Given the description of an element on the screen output the (x, y) to click on. 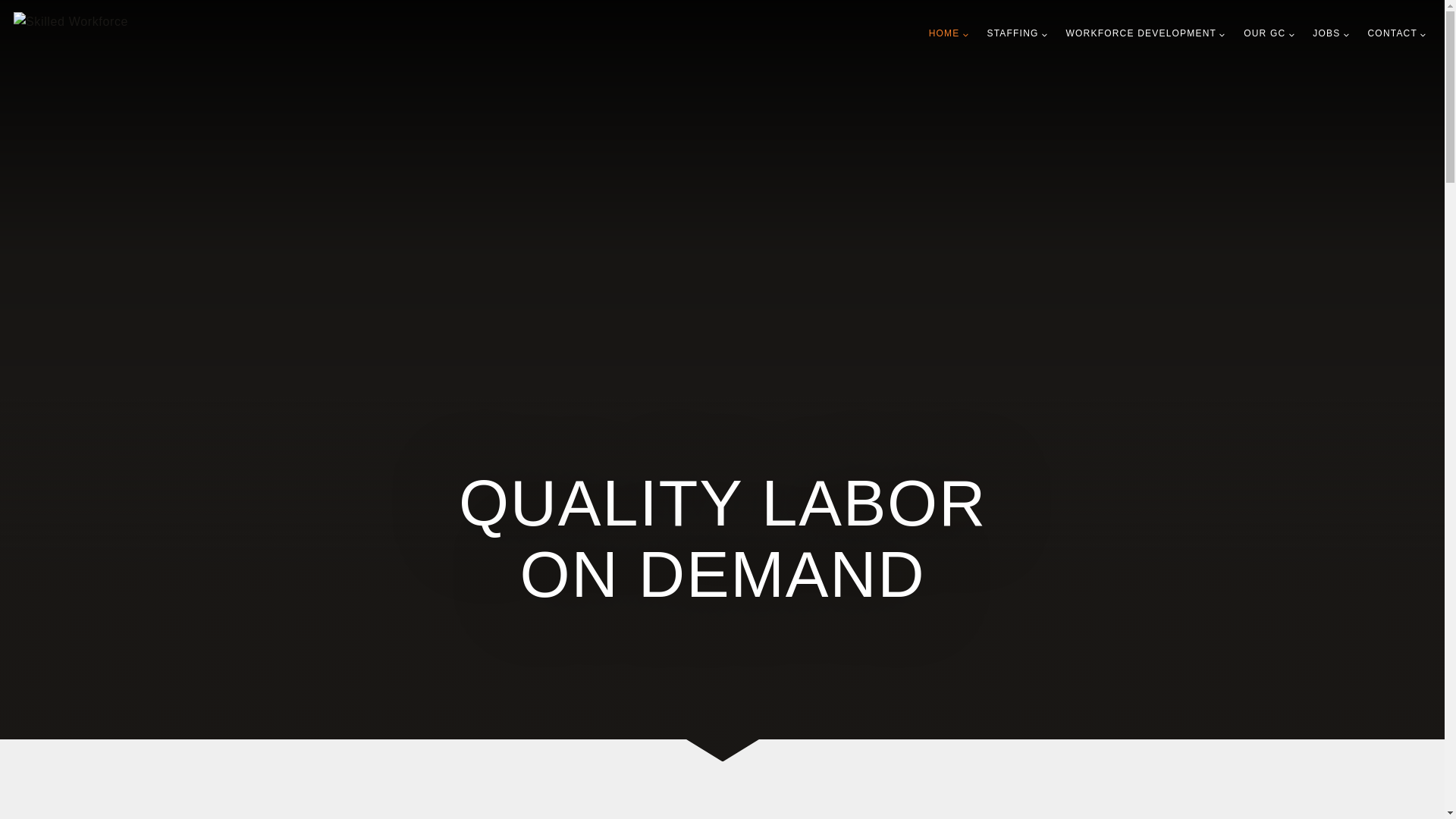
WORKFORCE DEVELOPMENT (1145, 33)
STAFFING (1017, 33)
CONTACT (1396, 33)
JOBS (1330, 33)
OUR GC (1268, 33)
HOME (949, 33)
